Given the description of an element on the screen output the (x, y) to click on. 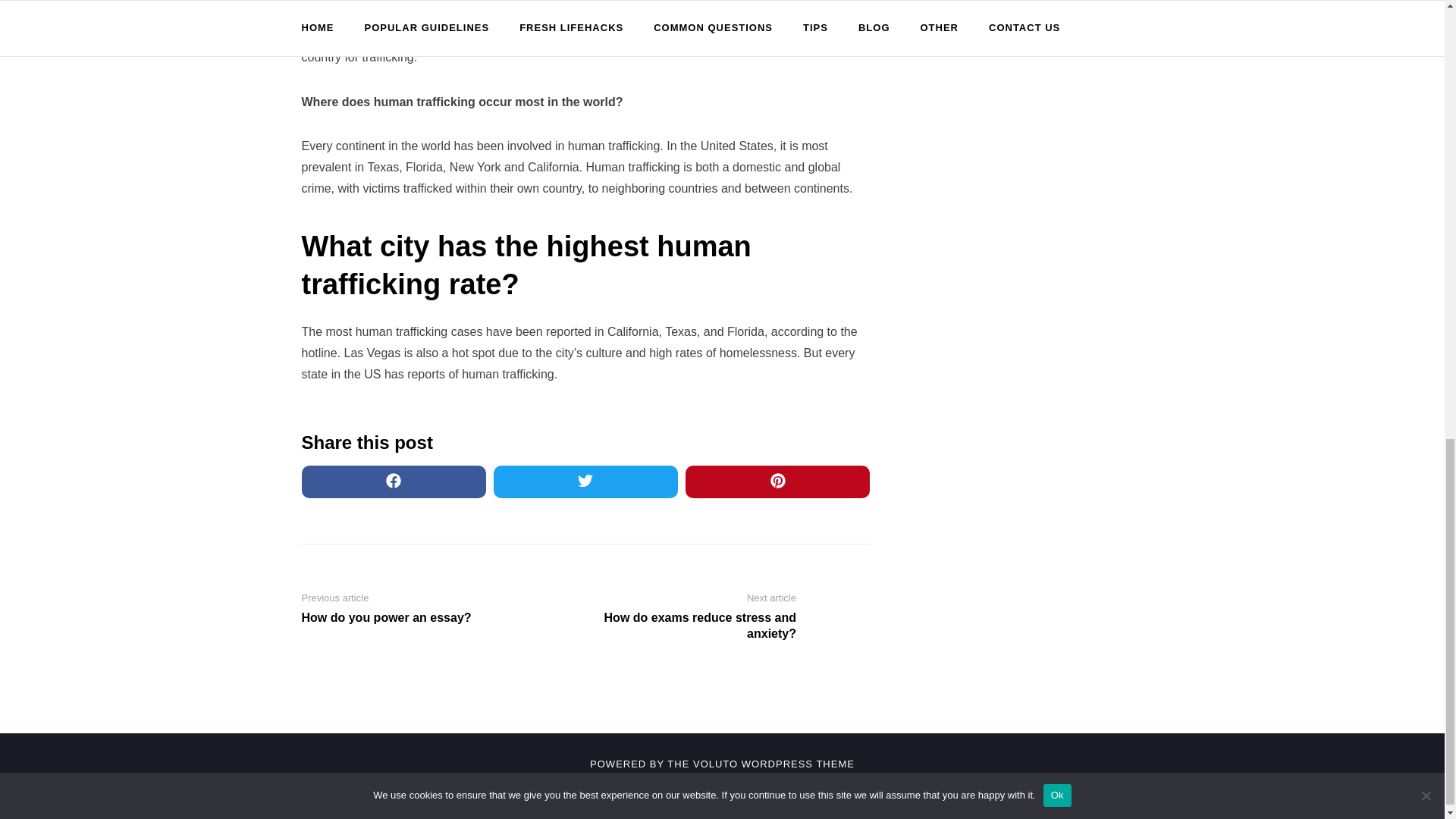
How do you power an essay? (400, 618)
How do exams reduce stress and anxiety? (696, 626)
VOLUTO (715, 763)
